Given the description of an element on the screen output the (x, y) to click on. 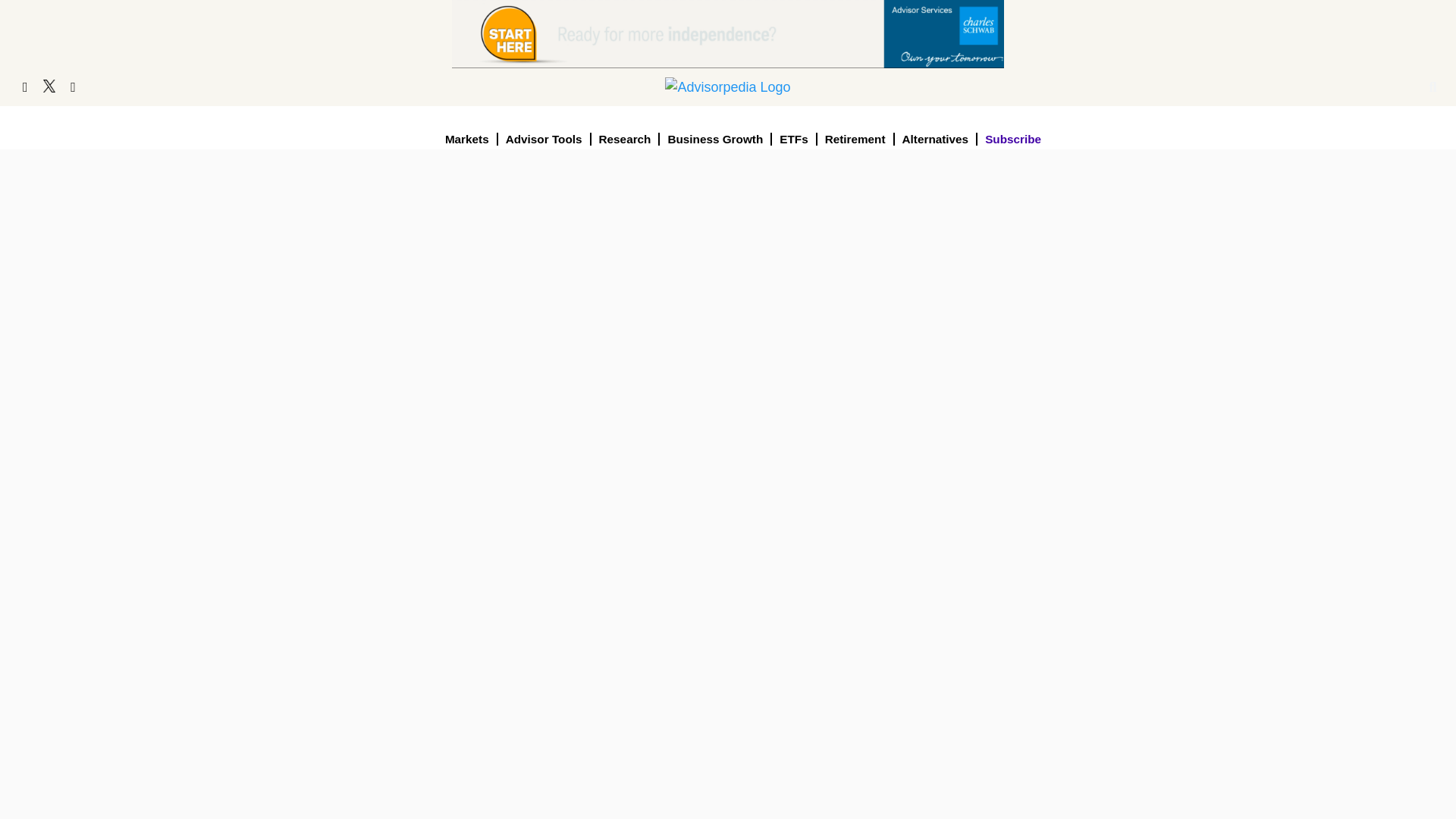
Advisor Tools (544, 138)
Home (727, 86)
Retirement (855, 138)
Research (626, 138)
ETFs (793, 138)
Markets (467, 138)
Alternatives (936, 138)
Business Growth (715, 138)
Subscribe (1012, 138)
